Given the description of an element on the screen output the (x, y) to click on. 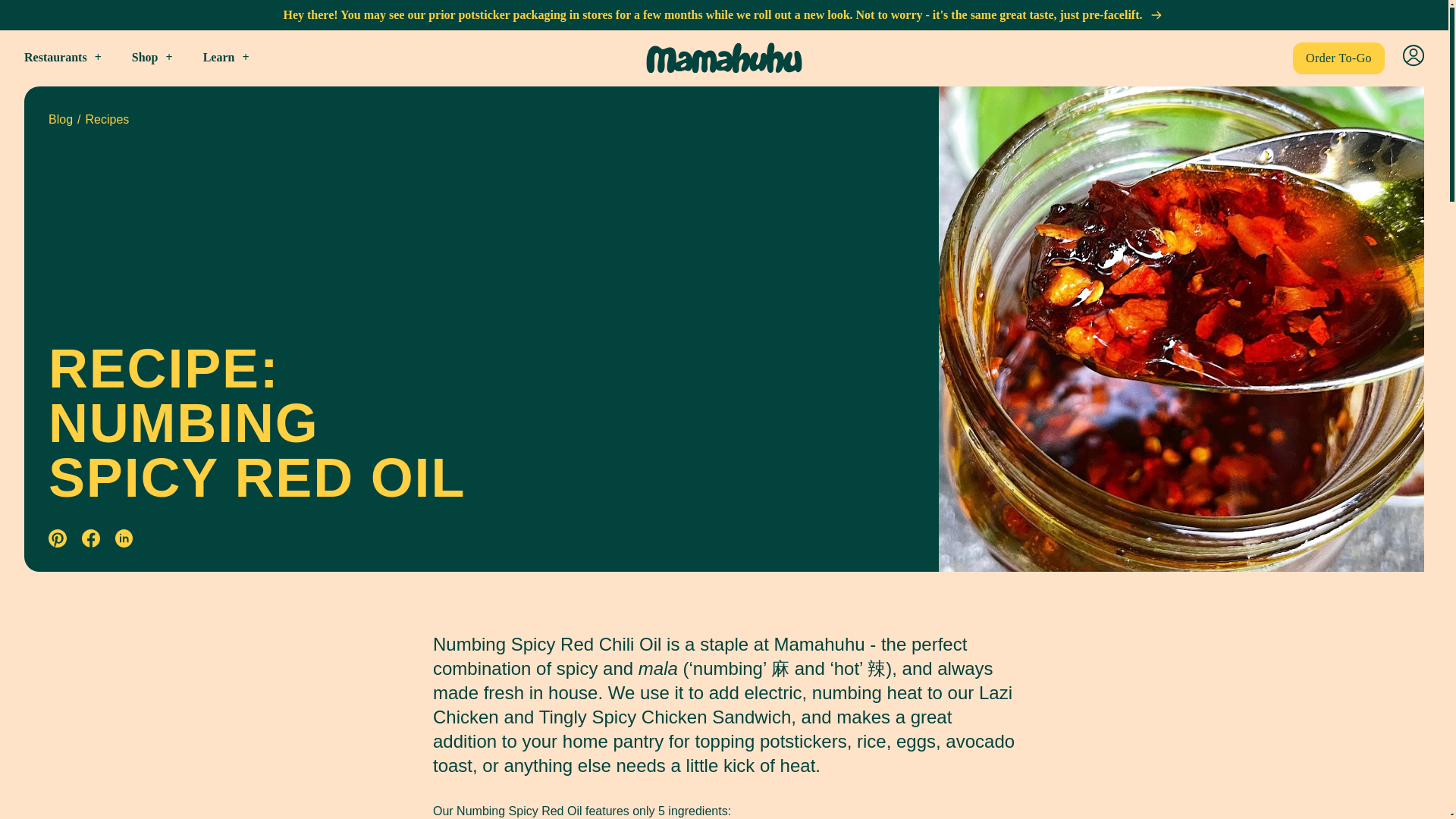
Order To-Go (1338, 58)
Account (1413, 55)
Mamahuhu Homepage (723, 57)
Blog (60, 119)
